Given the description of an element on the screen output the (x, y) to click on. 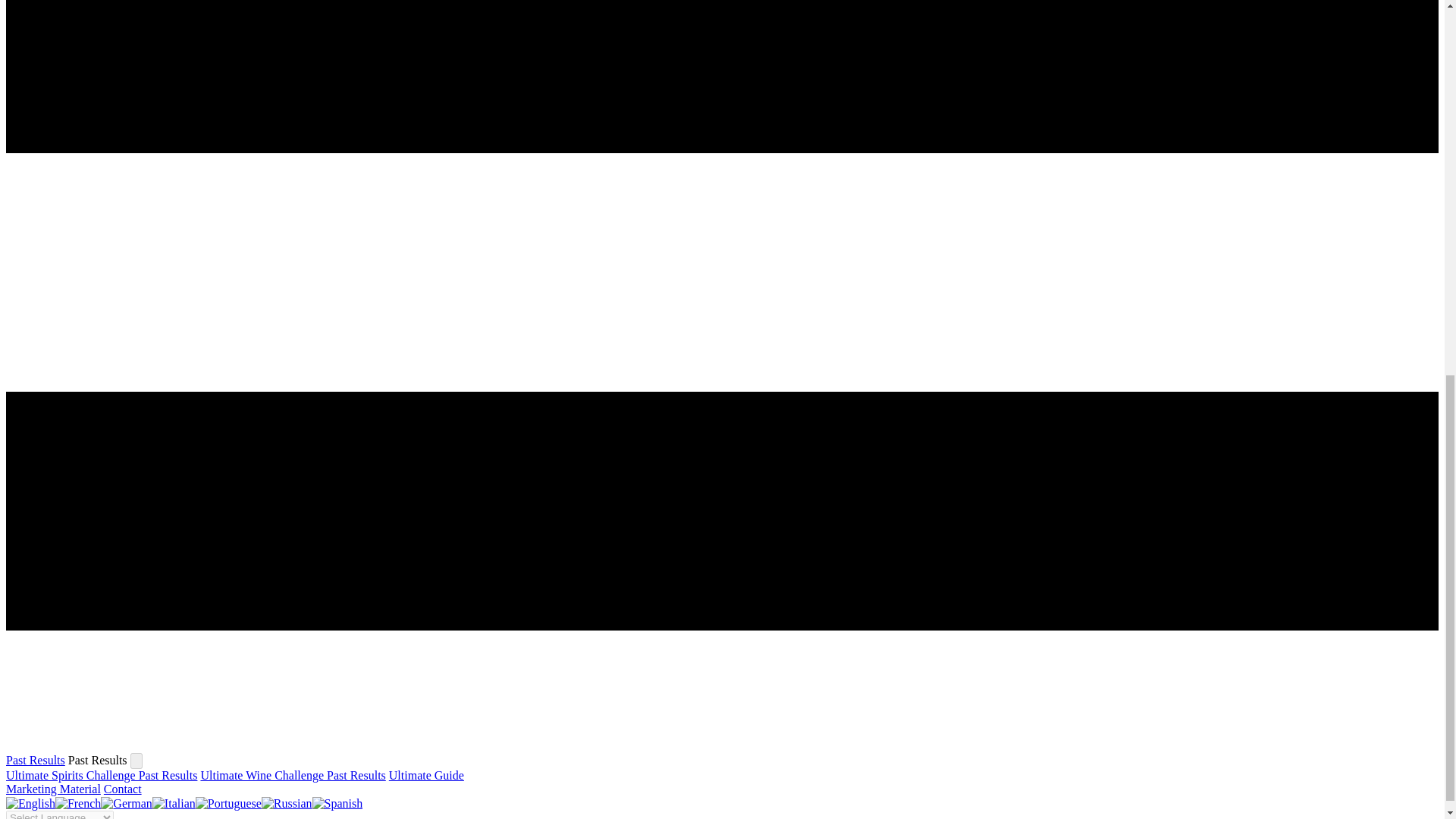
Ultimate Wine Challenge Past Results (292, 775)
Russian (287, 803)
Portuguese (228, 803)
English (30, 803)
French (77, 803)
Marketing Material (52, 788)
Italian (173, 803)
Spanish (337, 803)
German (126, 803)
Ultimate Spirits Challenge Past Results (100, 775)
Ultimate Guide (426, 775)
Contact (122, 788)
Past Results (35, 759)
